Given the description of an element on the screen output the (x, y) to click on. 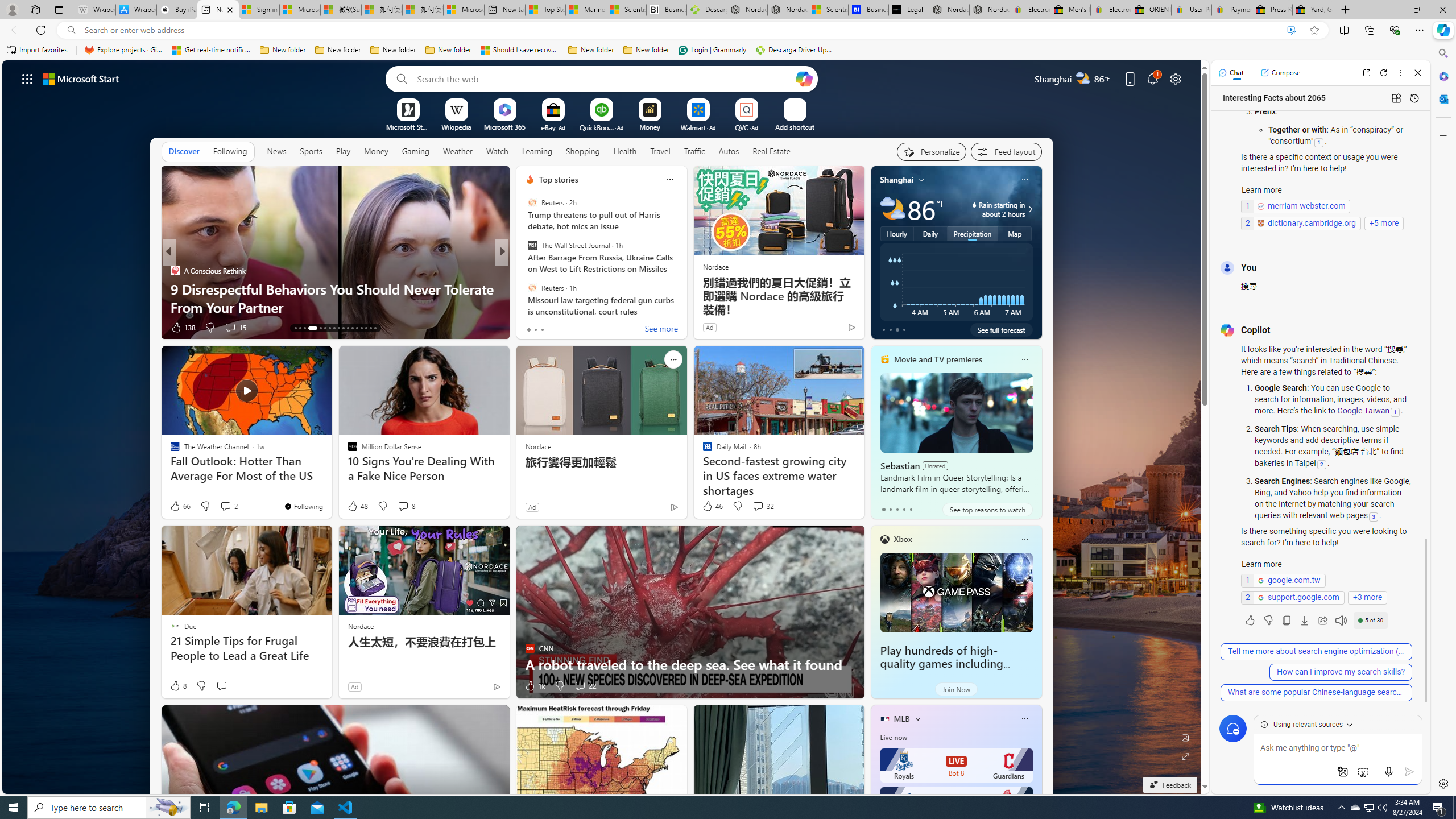
View comments 30 Comment (229, 327)
Feed settings (1005, 151)
View comments 32 Comment (757, 505)
AutomationID: tab-25 (356, 328)
Class: weather-arrow-glyph (1029, 208)
AutomationID: tab-23 (347, 328)
Login | Grammarly (712, 49)
tab-4 (910, 509)
